Given the description of an element on the screen output the (x, y) to click on. 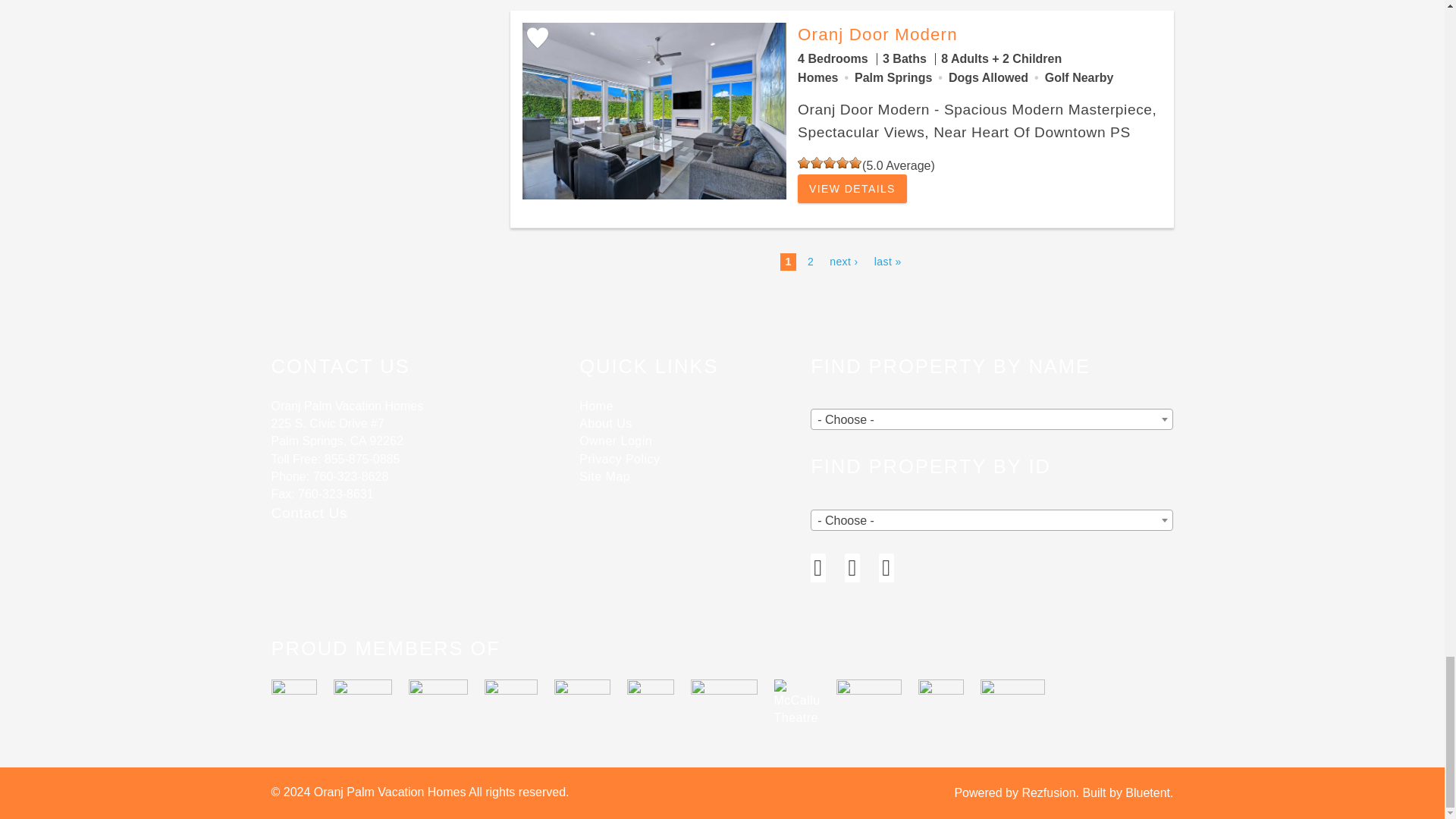
Go to page 2 (810, 261)
 Add Favorite (536, 37)
Go to last page (887, 261)
Go to next page (844, 261)
